Given the description of an element on the screen output the (x, y) to click on. 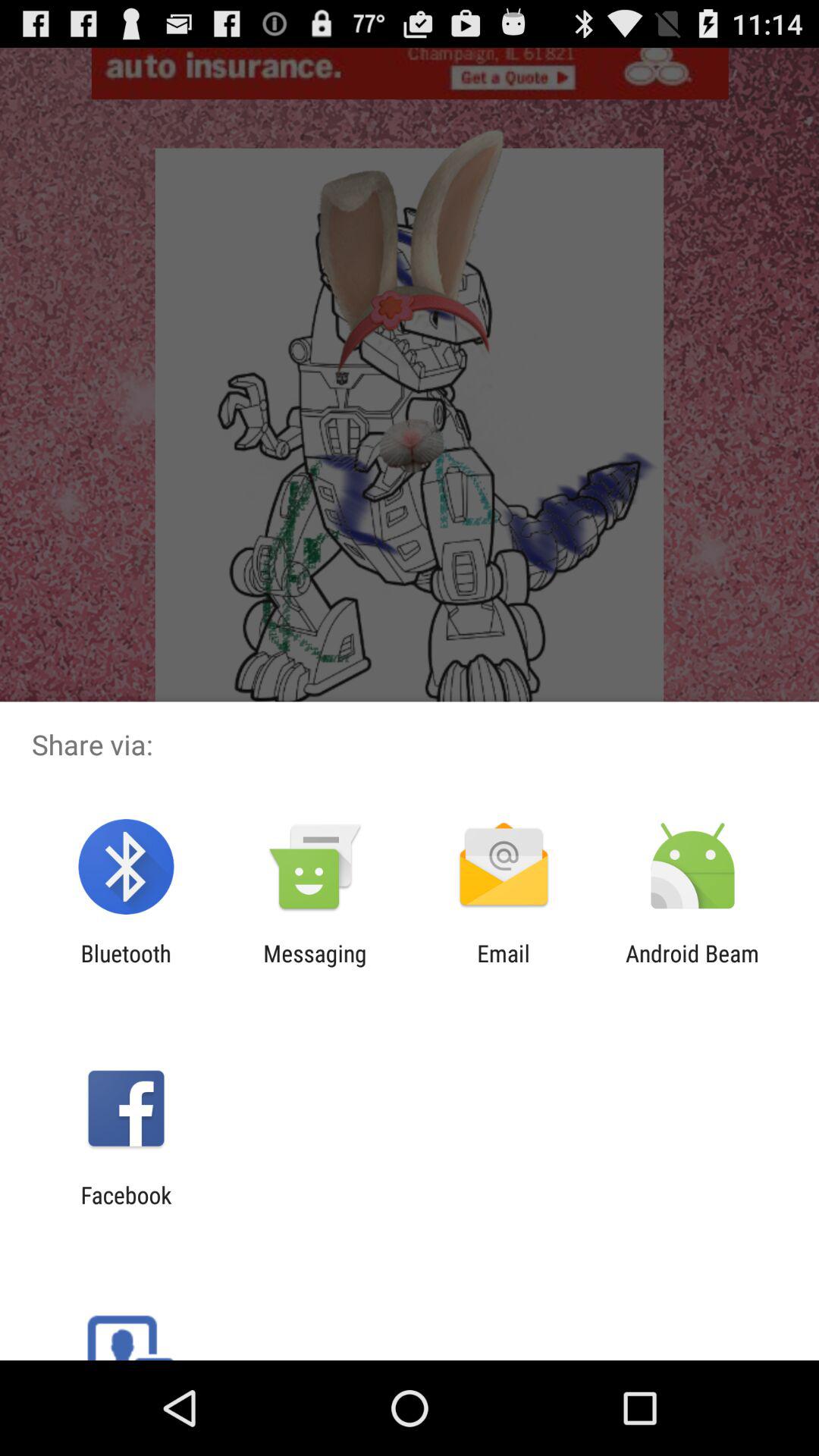
flip until facebook icon (125, 1208)
